Given the description of an element on the screen output the (x, y) to click on. 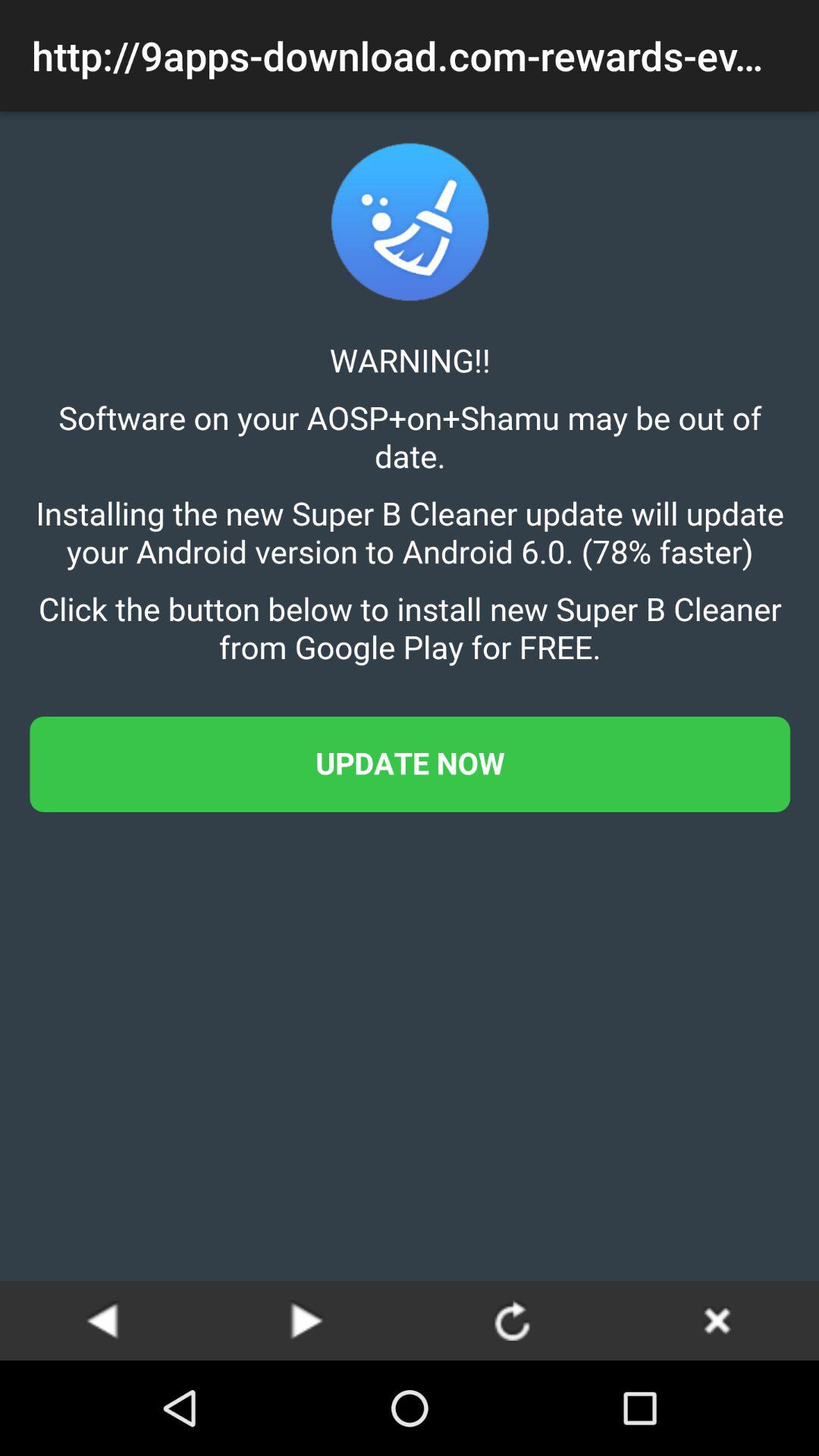
go to next (306, 1320)
